Given the description of an element on the screen output the (x, y) to click on. 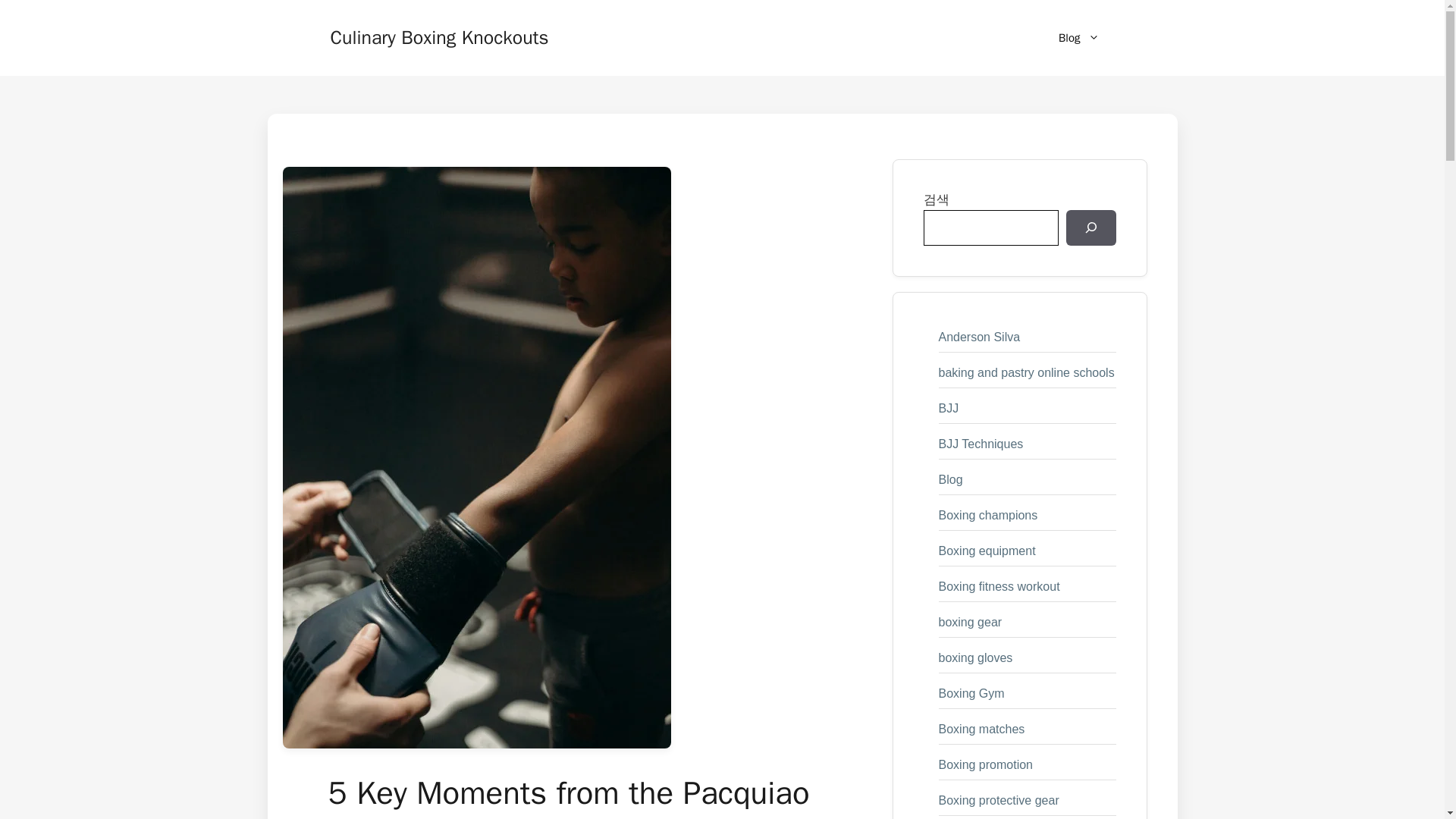
Culinary Boxing Knockouts (439, 37)
Blog (1078, 37)
